Given the description of an element on the screen output the (x, y) to click on. 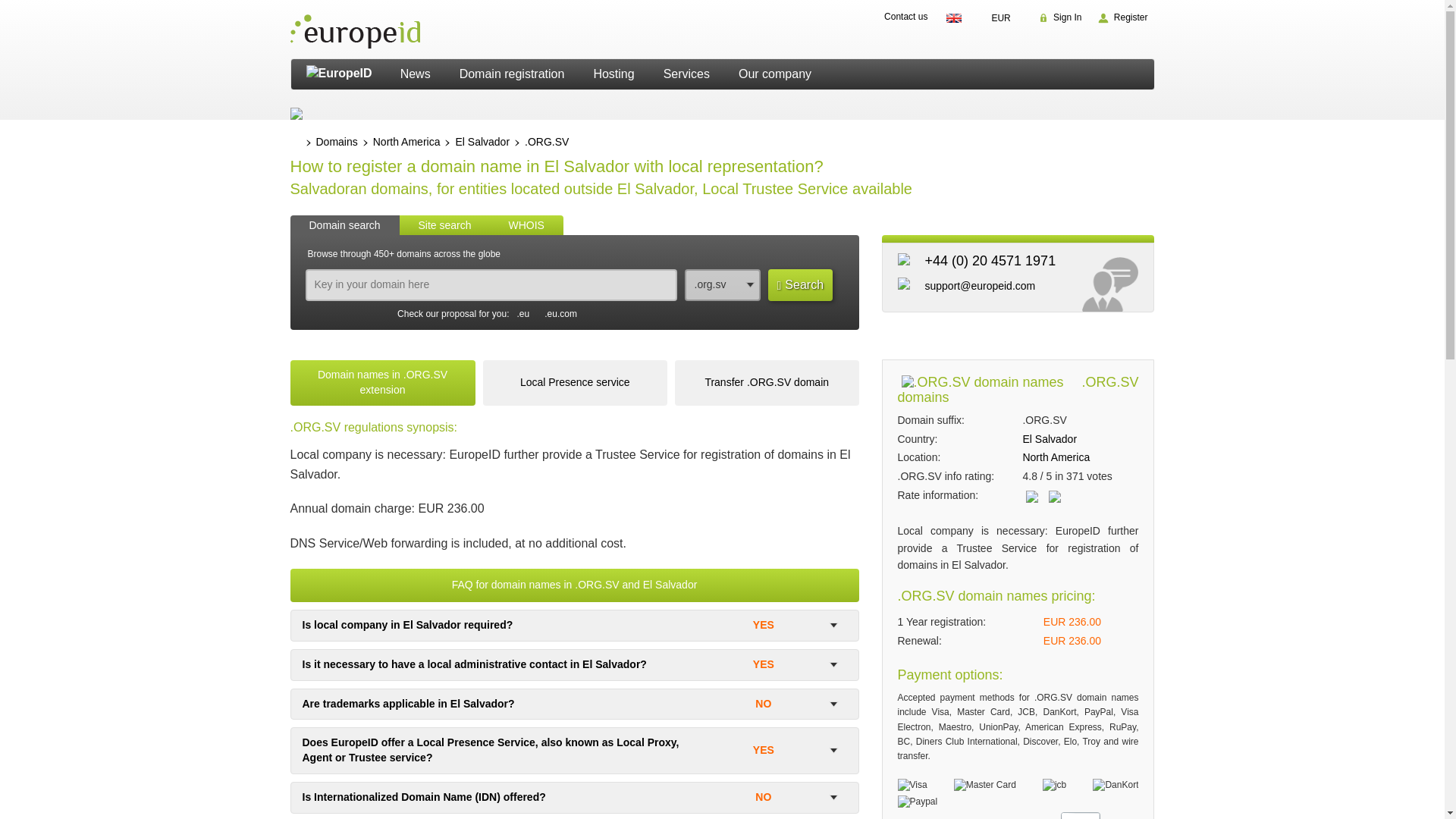
Contact us (906, 15)
Domains in North America (1055, 457)
Hosting (612, 73)
.ORG.SV domains (546, 142)
Local Presence service (574, 382)
EUR (1005, 18)
Sign In (1059, 16)
Domains in El Salvador (1049, 438)
Domain names in .ORG.SV extension (381, 382)
Services (686, 73)
Domain registration (512, 73)
Register (1123, 16)
News (415, 73)
Domain names (335, 142)
Domains in North America (406, 142)
